Given the description of an element on the screen output the (x, y) to click on. 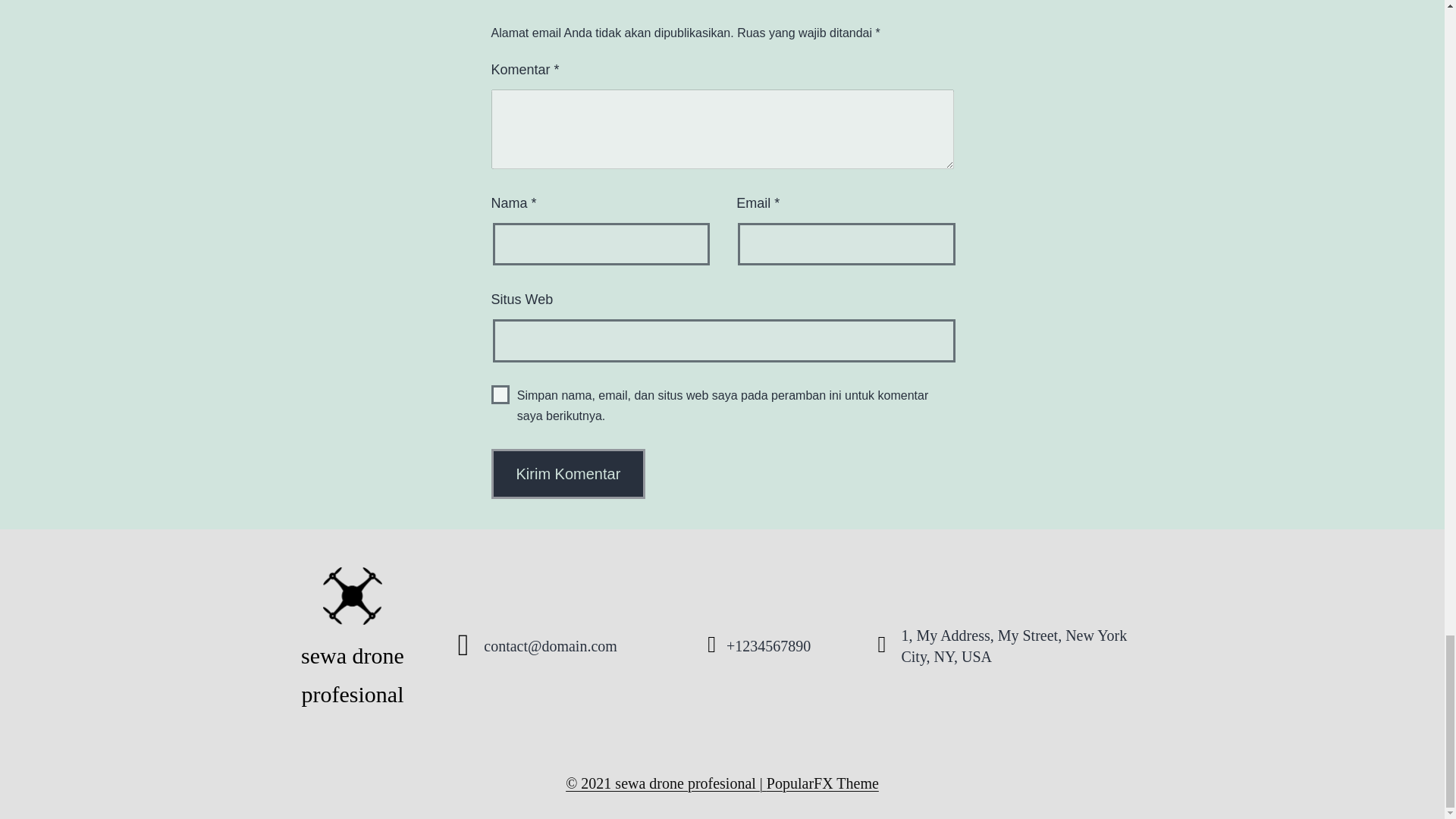
PopularFX Theme (823, 782)
Kirim Komentar (569, 473)
Kirim Komentar (569, 473)
yes (500, 394)
